Given the description of an element on the screen output the (x, y) to click on. 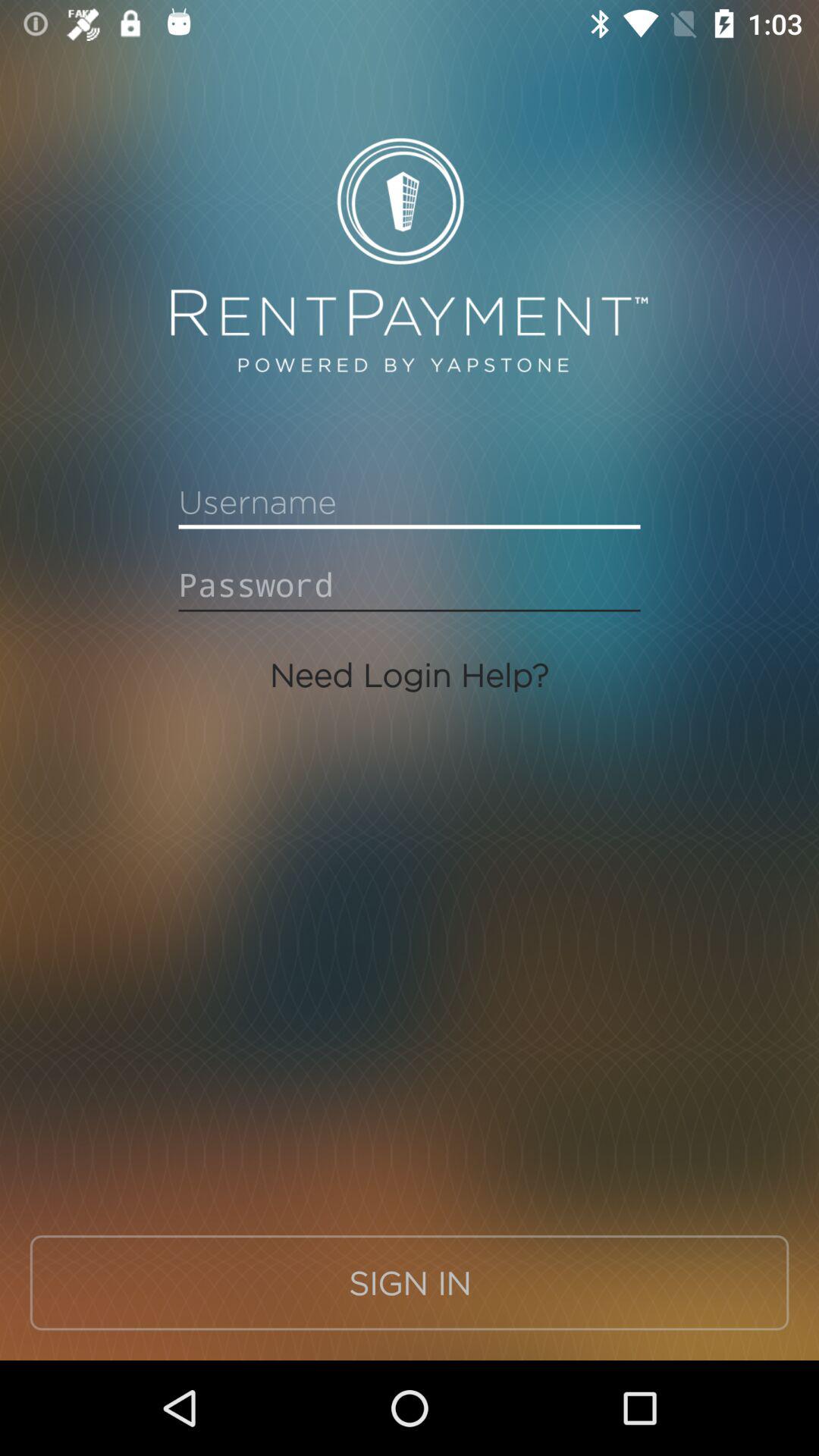
password input space (409, 584)
